Given the description of an element on the screen output the (x, y) to click on. 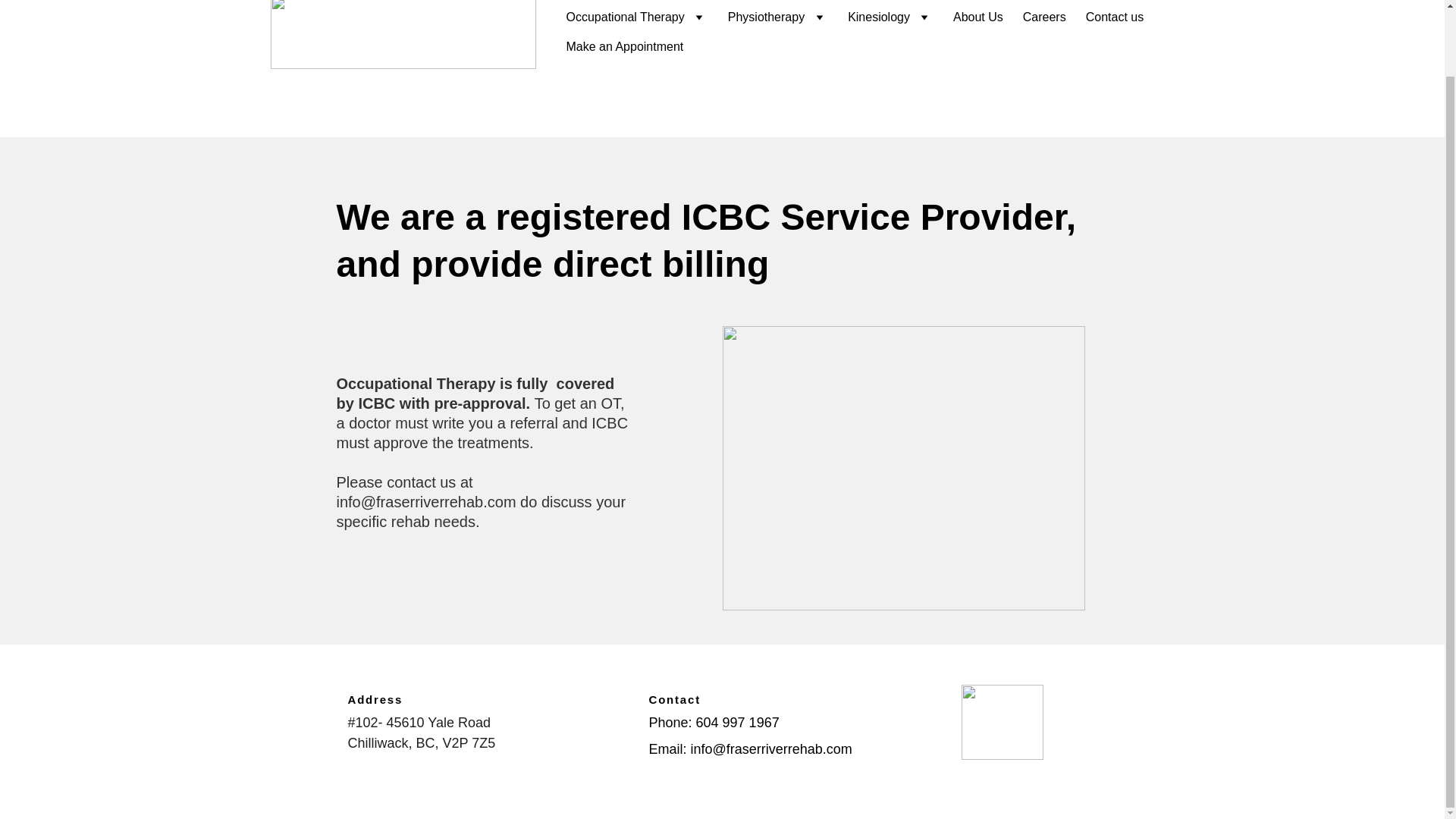
Contact us (1114, 17)
Careers (1044, 17)
Kinesiology (878, 17)
Occupational Therapy (625, 17)
About Us (978, 17)
Make an Appointment (624, 45)
Physiotherapy (766, 17)
